Given the description of an element on the screen output the (x, y) to click on. 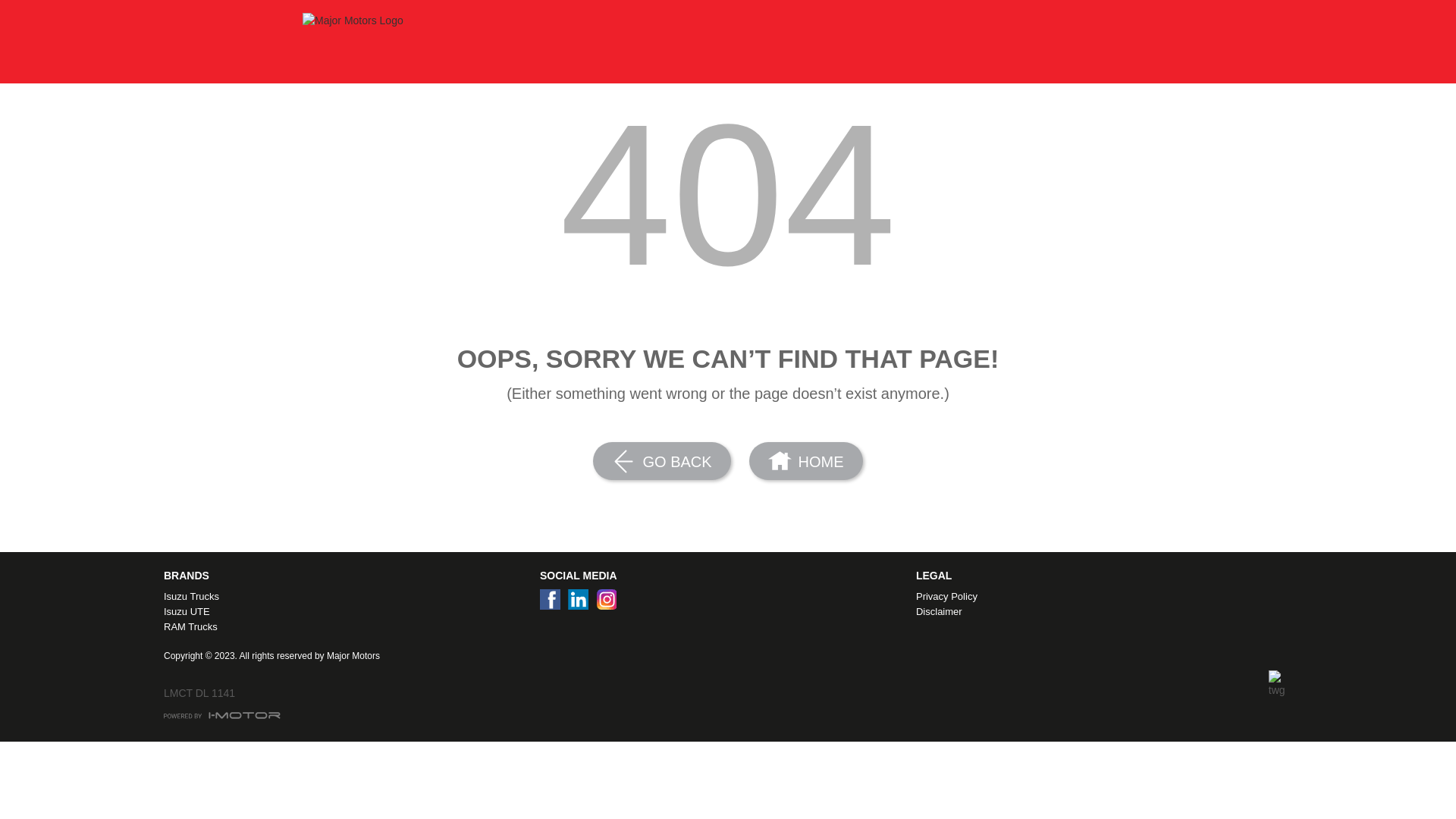
linkedin Element type: text (581, 603)
HOME Element type: text (805, 461)
RAM Trucks Element type: text (348, 626)
Isuzu Trucks Element type: text (348, 596)
GO BACK Element type: text (661, 461)
Privacy Policy Element type: text (1101, 596)
Isuzu UTE Element type: text (348, 611)
facebook Element type: text (553, 603)
Disclaimer Element type: text (1101, 611)
instagram Element type: text (610, 603)
